Given the description of an element on the screen output the (x, y) to click on. 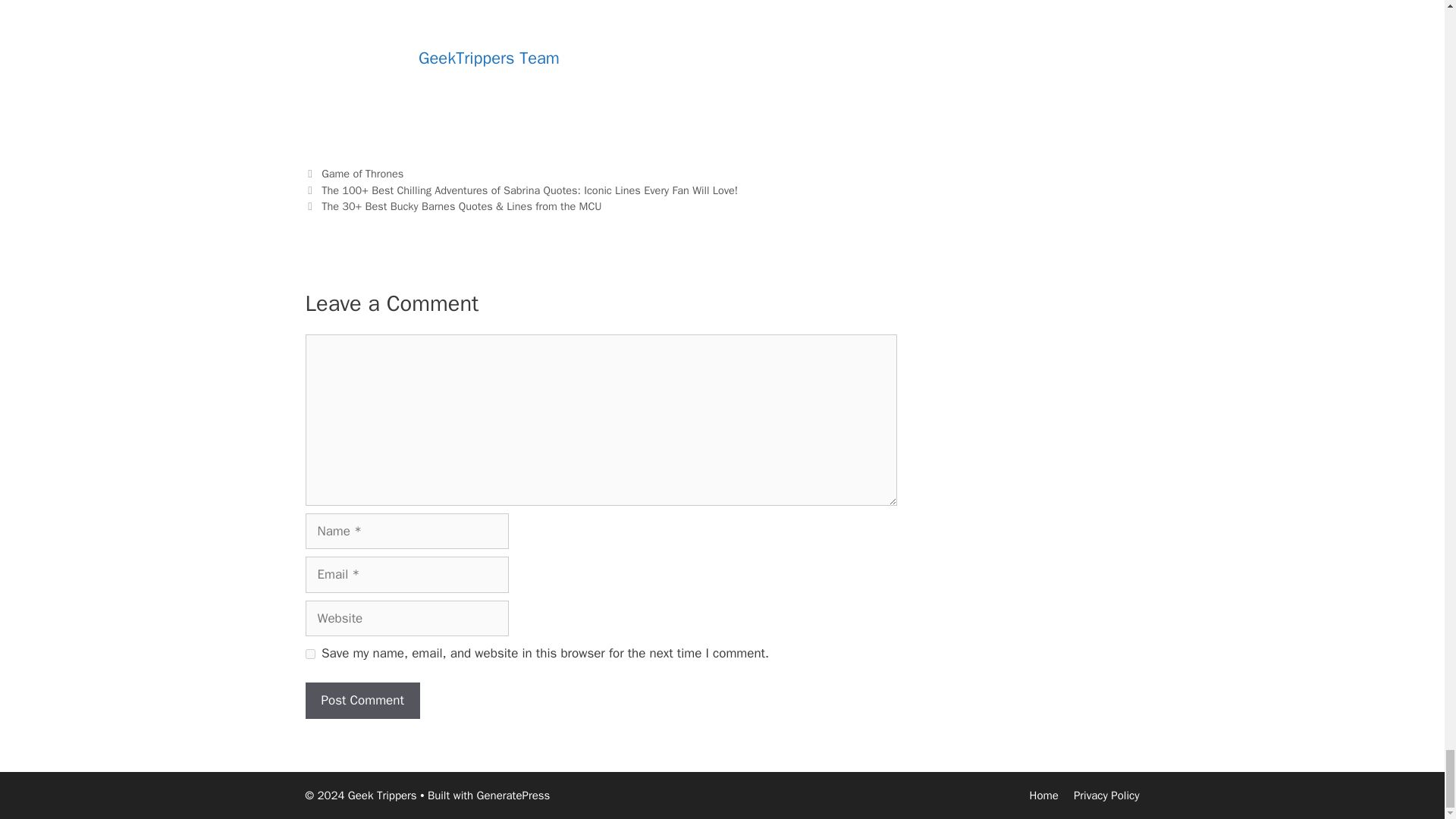
Game of Thrones (362, 173)
GeekTrippers Team (489, 57)
Post Comment (361, 700)
Post Comment (361, 700)
yes (309, 654)
